Given the description of an element on the screen output the (x, y) to click on. 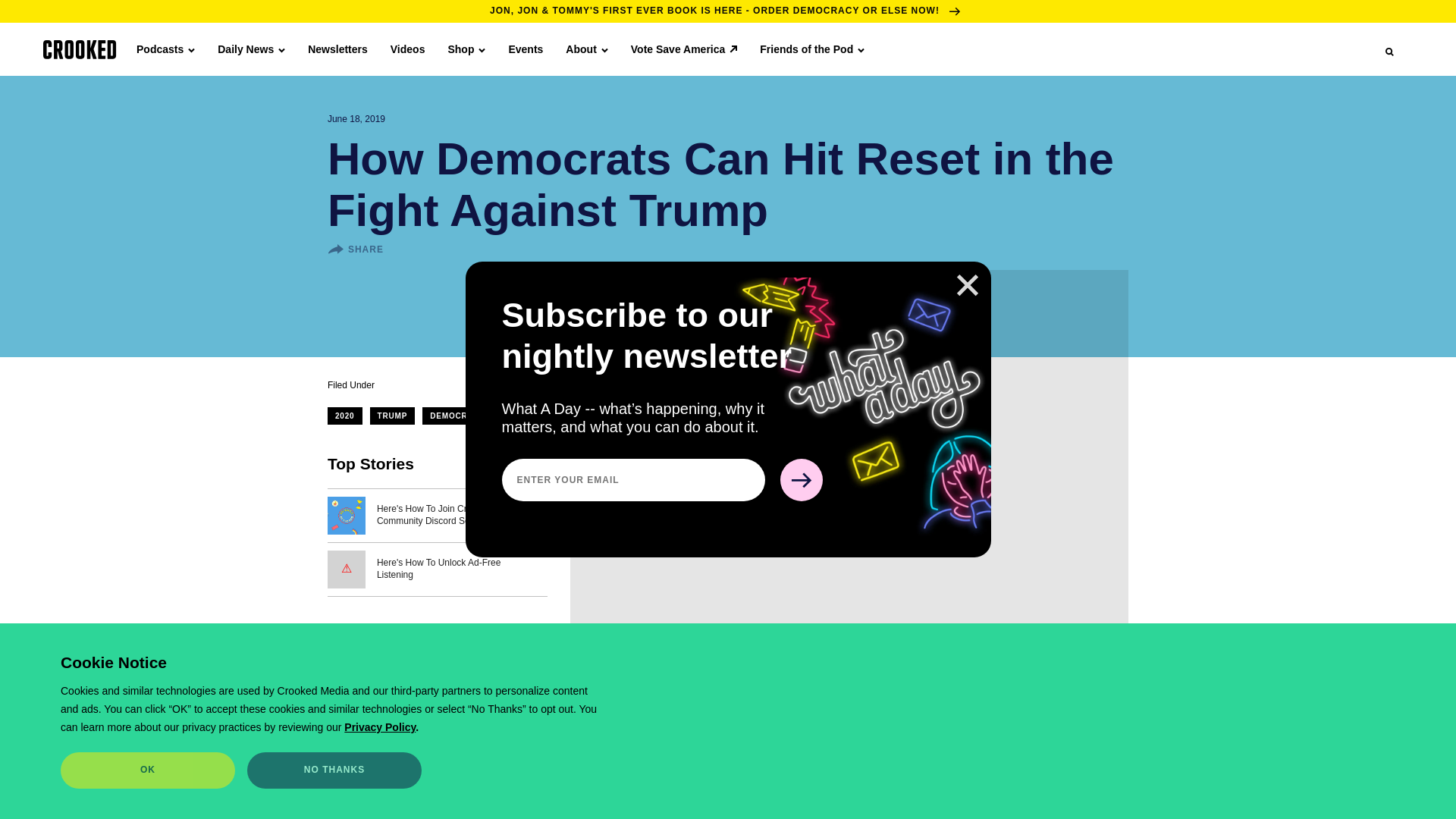
Shop (465, 48)
Newsletters (337, 48)
About (586, 48)
Daily News (250, 48)
Videos (407, 48)
Friends of the Pod (812, 48)
Vote Save America (684, 48)
Podcasts (165, 48)
Events (525, 48)
